Given the description of an element on the screen output the (x, y) to click on. 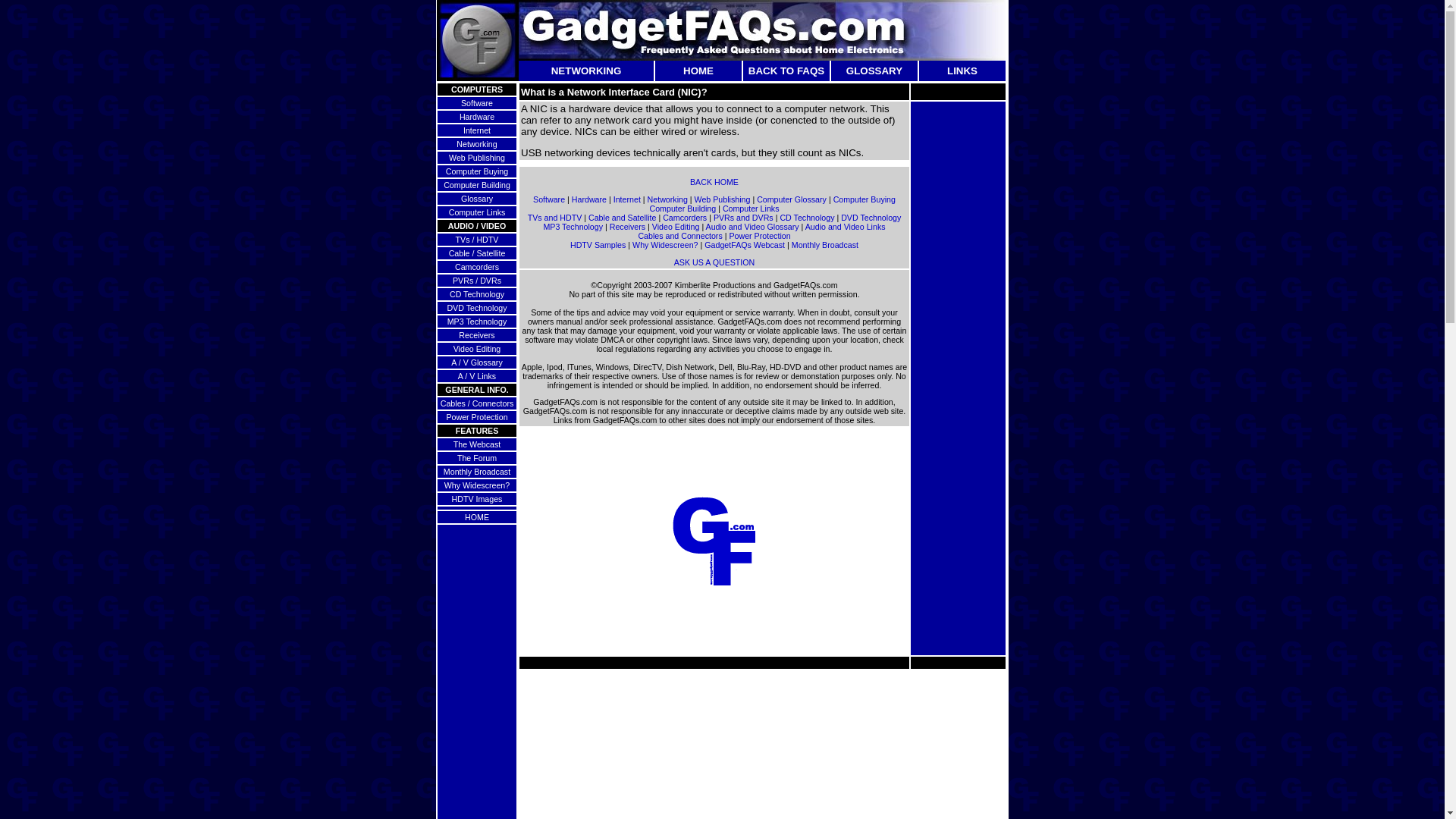
Click here for computer links. (476, 212)
Hardware (589, 198)
Click here to go back home. (697, 70)
Click here for web publishing information. (476, 157)
Click here for computer buying information. (476, 171)
Computer Buying (863, 198)
DVD Technology (476, 307)
Web Publishing (722, 198)
BACK HOME (714, 181)
Receivers (476, 334)
Click here for networking information. (476, 143)
Glossary (477, 198)
BACK TO FAQS (786, 70)
Internet (626, 198)
Click here for links to other sites. (961, 70)
